Given the description of an element on the screen output the (x, y) to click on. 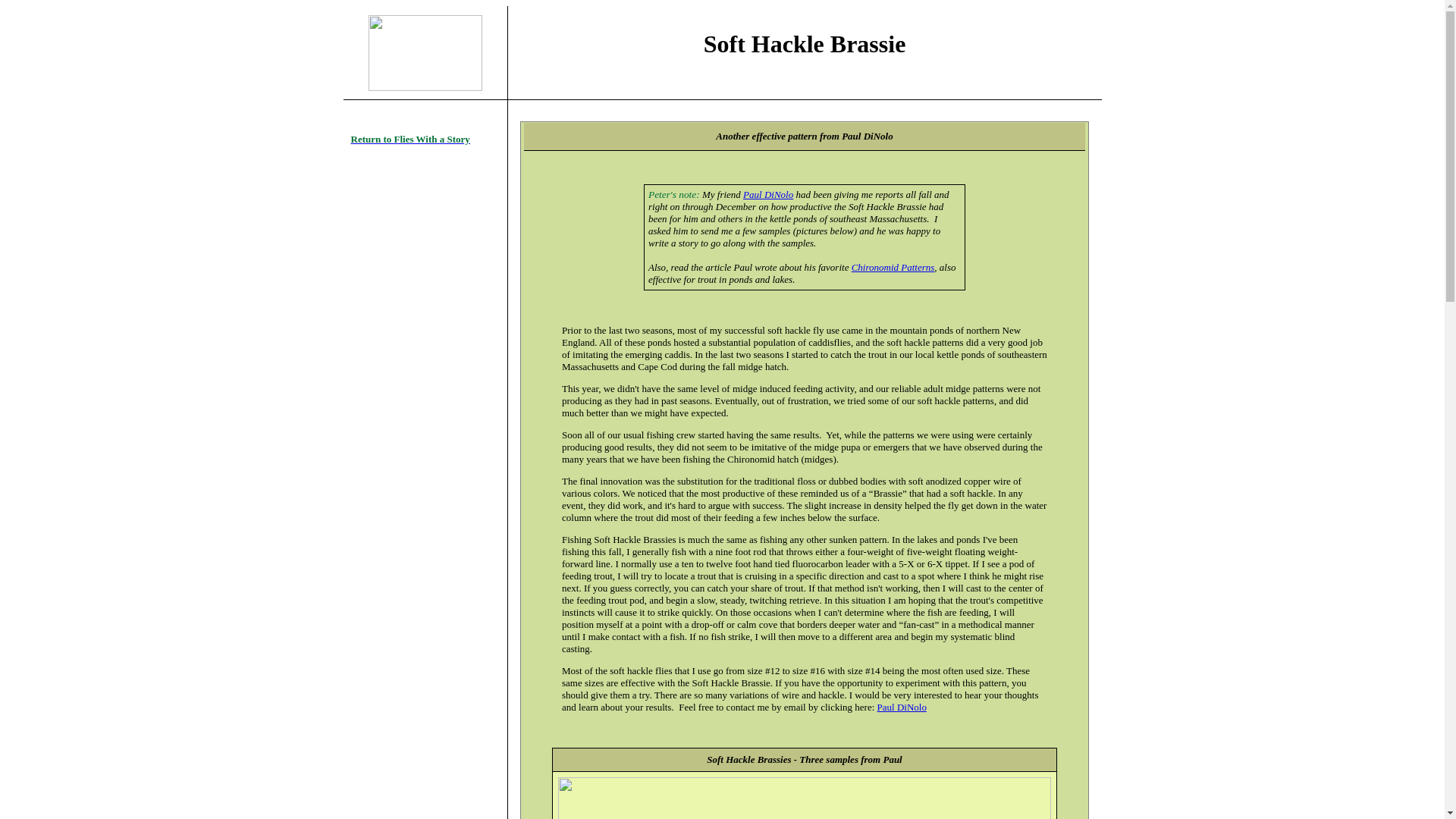
Paul DiNolo (901, 706)
Paul DiNolo (767, 194)
Chironomid Patterns (892, 266)
Return to Flies With a Story (409, 138)
